Given the description of an element on the screen output the (x, y) to click on. 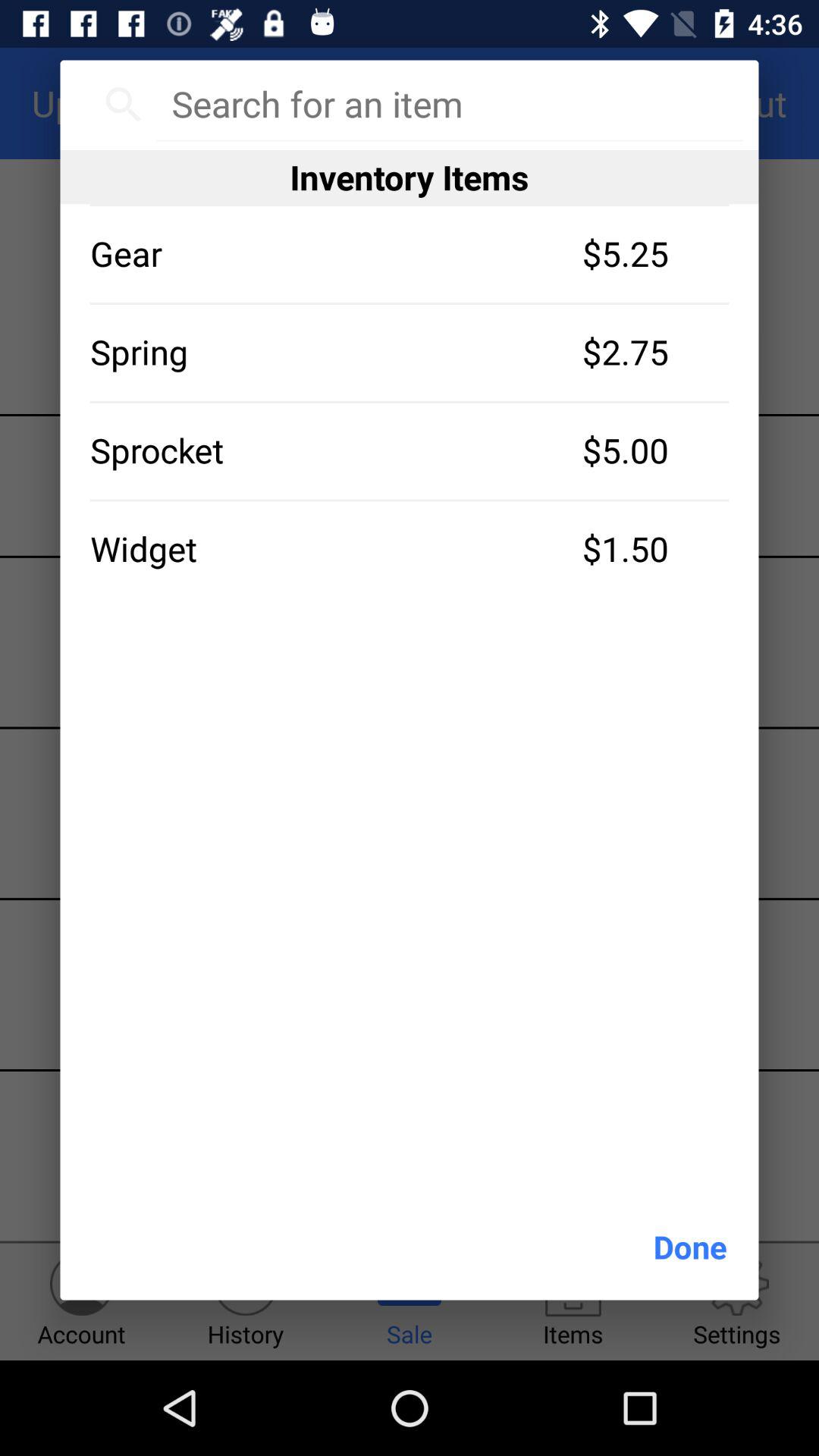
turn off the icon below $1.50 item (689, 1246)
